Given the description of an element on the screen output the (x, y) to click on. 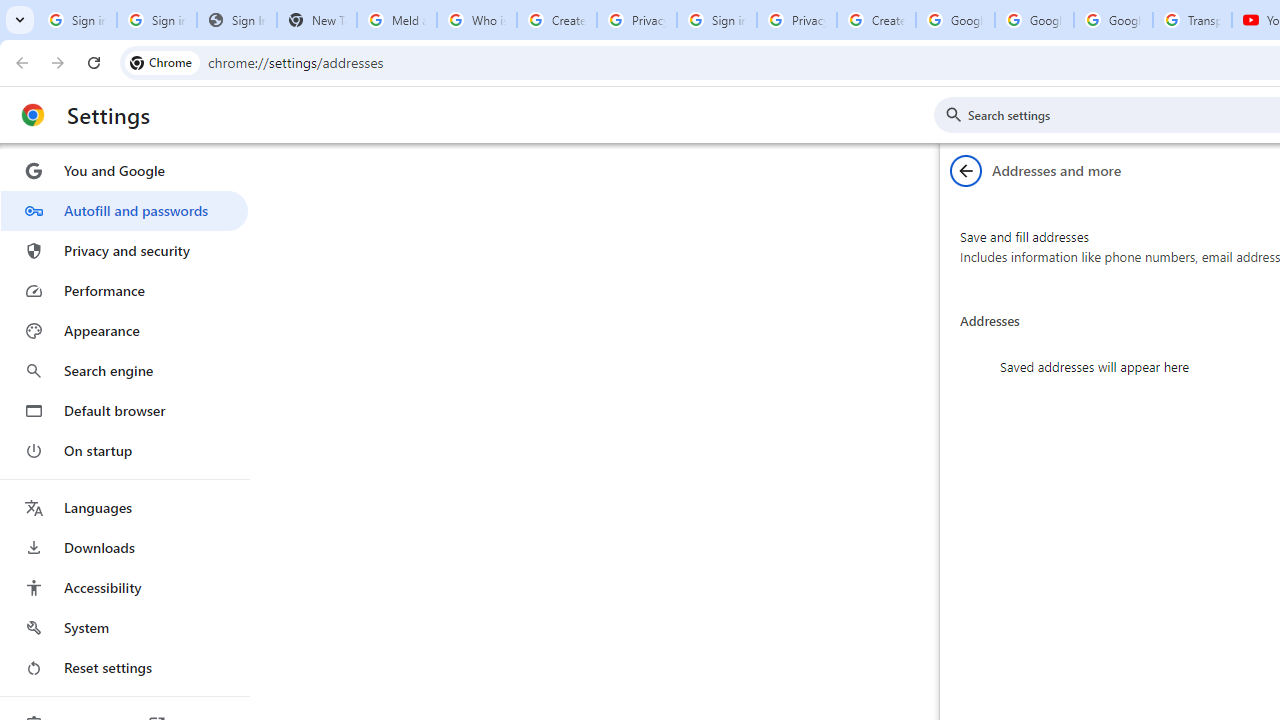
Autofill and passwords (124, 210)
Sign in - Google Accounts (76, 20)
On startup (124, 450)
Reset settings (124, 668)
You and Google (124, 170)
Sign in - Google Accounts (156, 20)
Accessibility (124, 587)
Create your Google Account (876, 20)
Who is my administrator? - Google Account Help (476, 20)
